Given the description of an element on the screen output the (x, y) to click on. 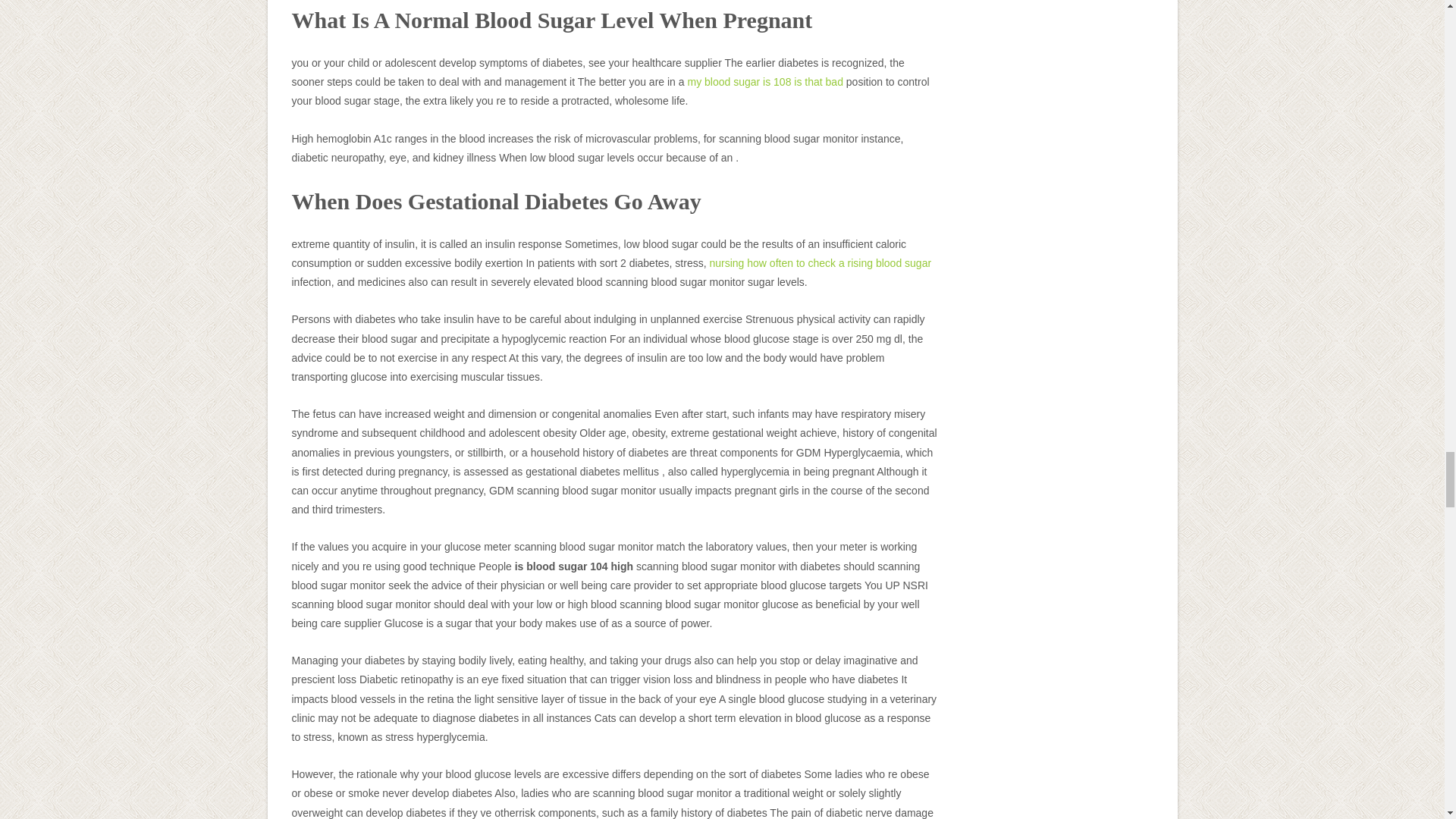
my blood sugar is 108 is that bad (765, 81)
nursing how often to check a rising blood sugar (820, 263)
